Given the description of an element on the screen output the (x, y) to click on. 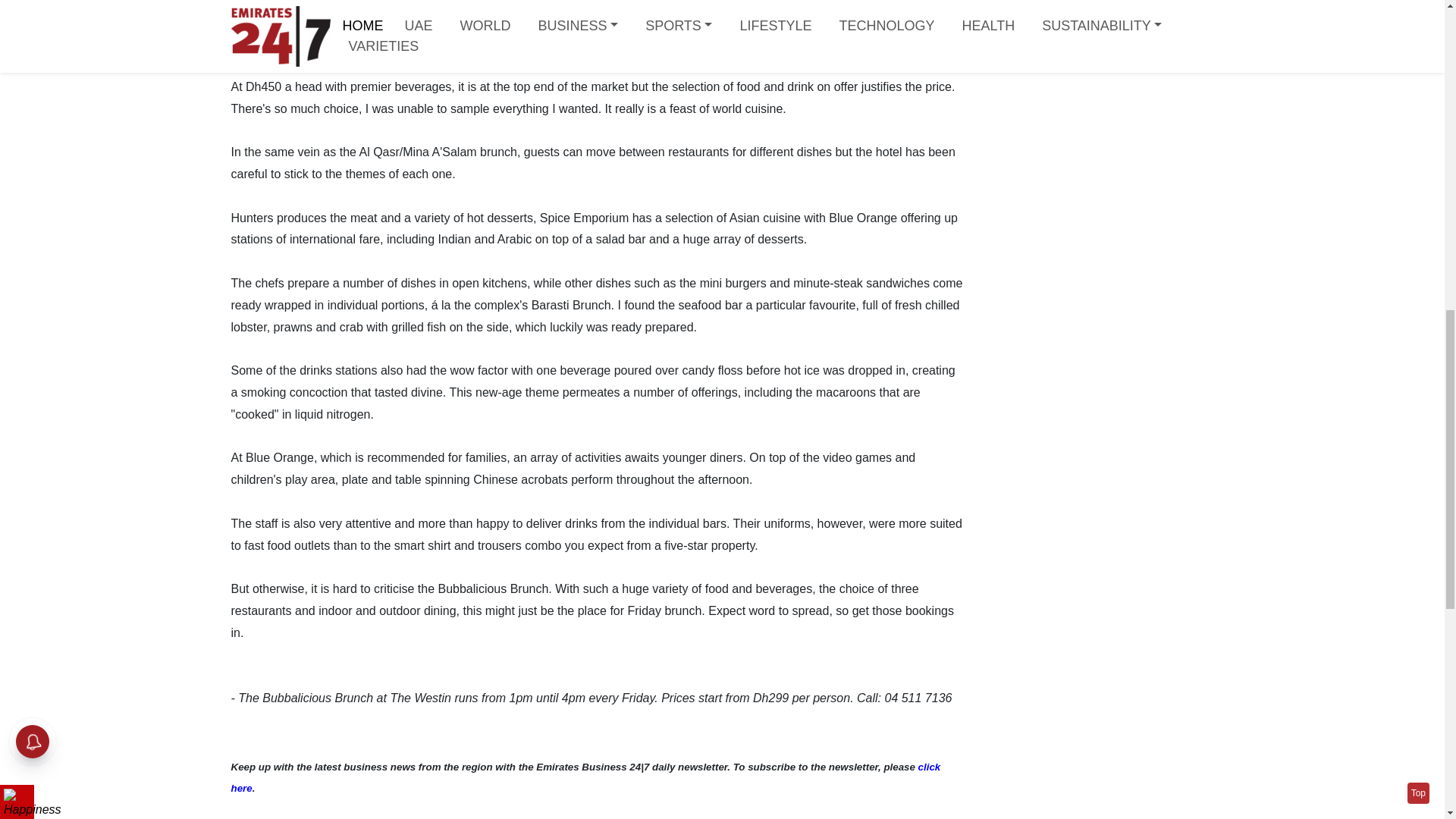
click here (585, 777)
